Given the description of an element on the screen output the (x, y) to click on. 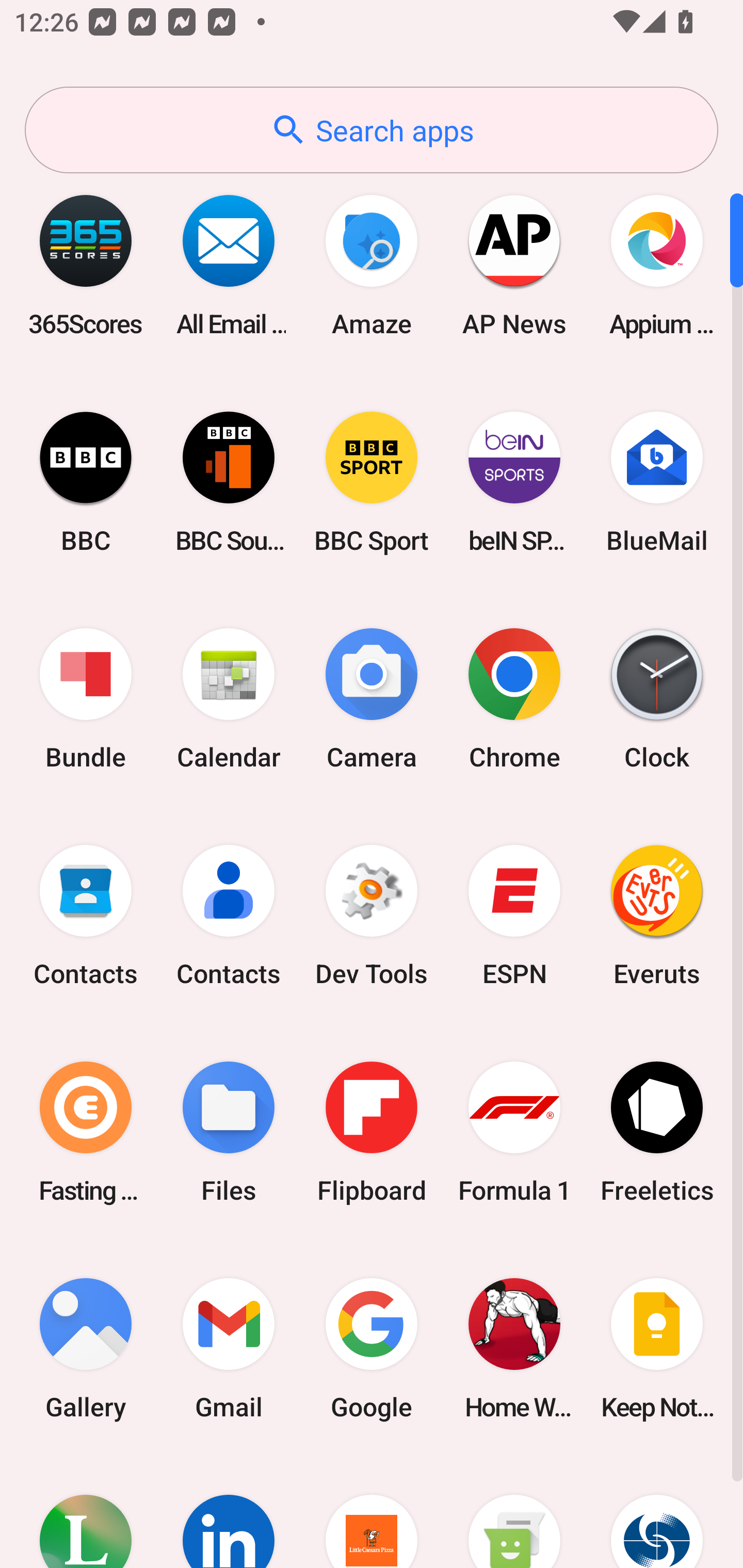
  Search apps (371, 130)
365Scores (85, 264)
All Email Connect (228, 264)
Amaze (371, 264)
AP News (514, 264)
Appium Settings (656, 264)
BBC (85, 482)
BBC Sounds (228, 482)
BBC Sport (371, 482)
beIN SPORTS (514, 482)
BlueMail (656, 482)
Bundle (85, 699)
Calendar (228, 699)
Camera (371, 699)
Chrome (514, 699)
Clock (656, 699)
Contacts (85, 915)
Contacts (228, 915)
Dev Tools (371, 915)
ESPN (514, 915)
Everuts (656, 915)
Fasting Coach (85, 1131)
Files (228, 1131)
Flipboard (371, 1131)
Formula 1 (514, 1131)
Freeletics (656, 1131)
Gallery (85, 1348)
Gmail (228, 1348)
Google (371, 1348)
Home Workout (514, 1348)
Keep Notes (656, 1348)
Lifesum (85, 1512)
LinkedIn (228, 1512)
Little Caesars Pizza (371, 1512)
Messaging (514, 1512)
MyObservatory (656, 1512)
